Given the description of an element on the screen output the (x, y) to click on. 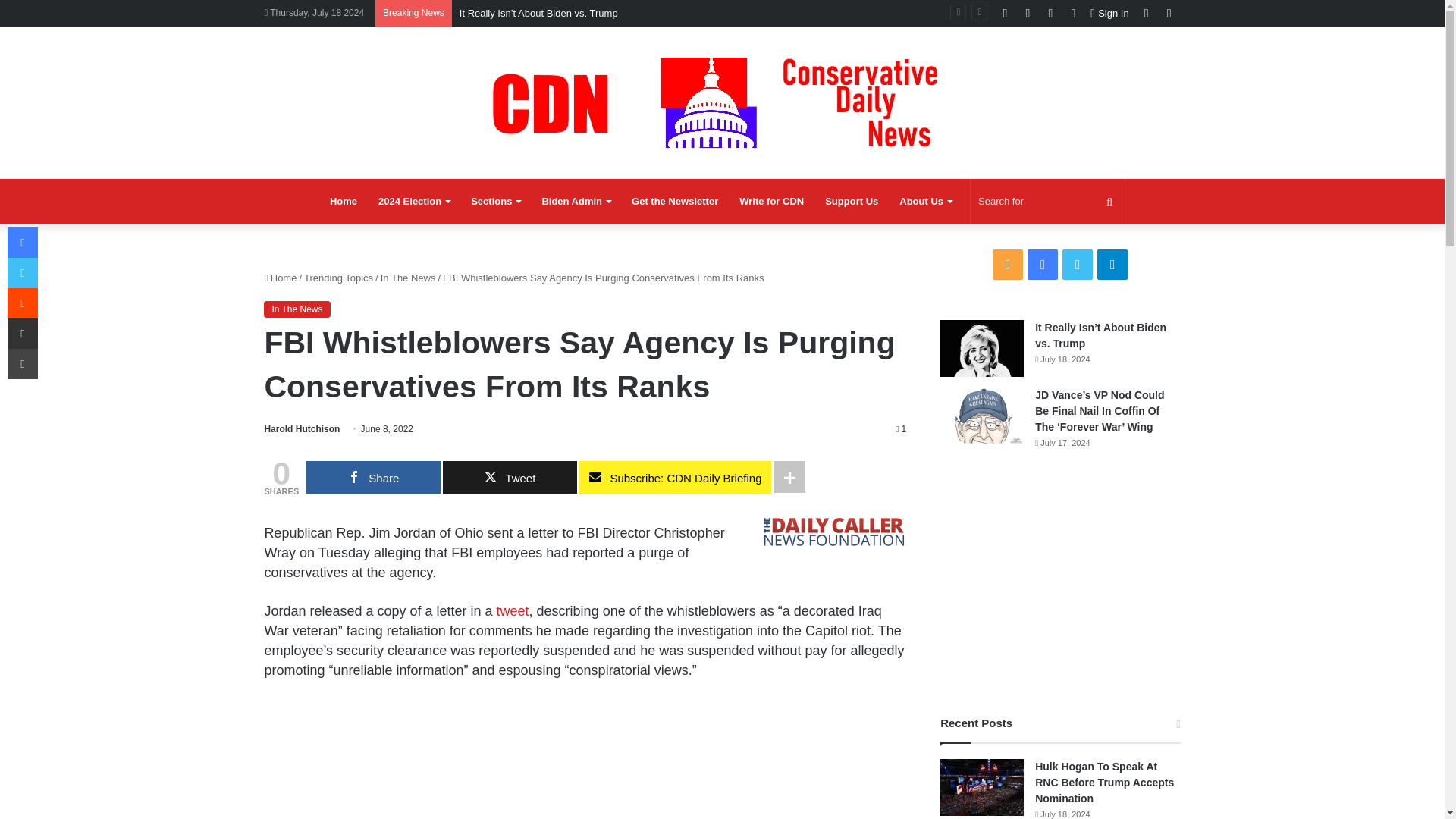
Harold Hutchison (301, 429)
Write for CDN (771, 201)
Biden Admin (576, 201)
Advertisement (584, 759)
Random Article (1146, 13)
Get the Newsletter (675, 201)
Conservative Daily News (721, 102)
Telegram (1072, 13)
Sections (495, 201)
2024 Election (414, 201)
Sidebar (1168, 13)
Support Us (850, 201)
About Us (925, 201)
Home (343, 201)
Twitter (1050, 13)
